Given the description of an element on the screen output the (x, y) to click on. 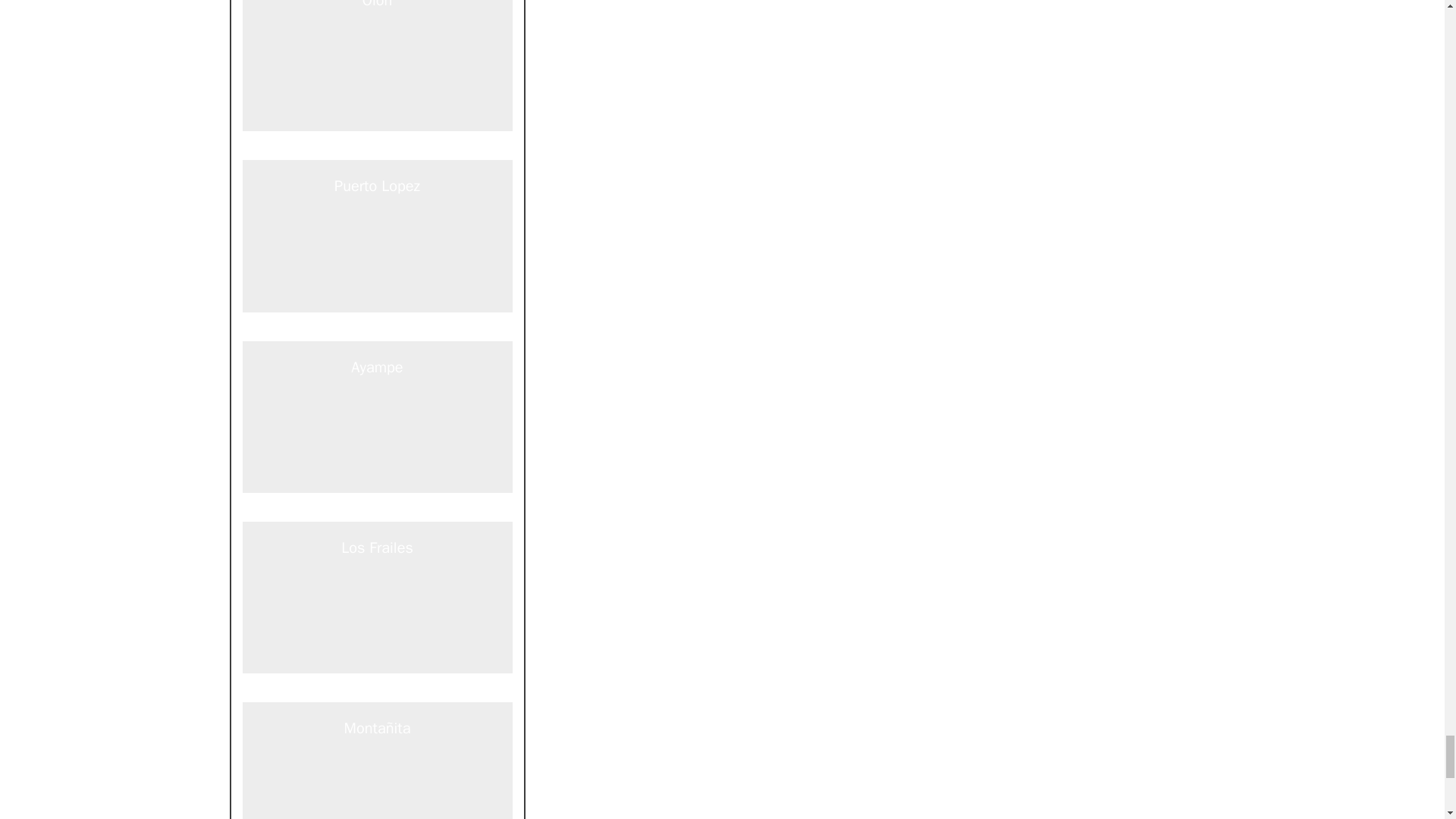
Los Frailes (377, 690)
Puerto Lopez (377, 329)
Olon (377, 148)
Ayampe (377, 509)
